Given the description of an element on the screen output the (x, y) to click on. 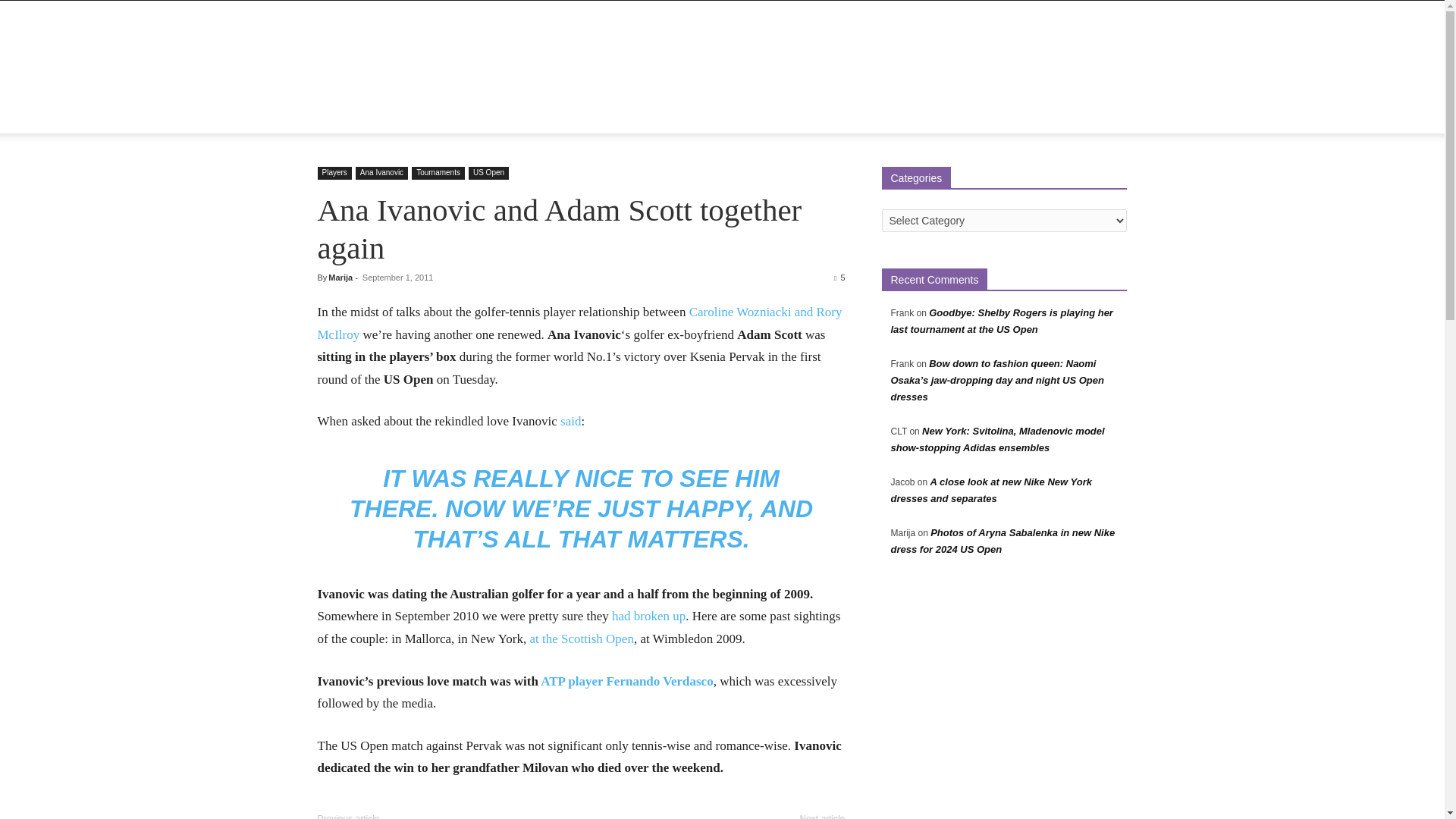
Featured (445, 115)
About (389, 115)
Search (1085, 175)
Home (341, 115)
Subscribe (728, 115)
Contact Us (659, 115)
